Given the description of an element on the screen output the (x, y) to click on. 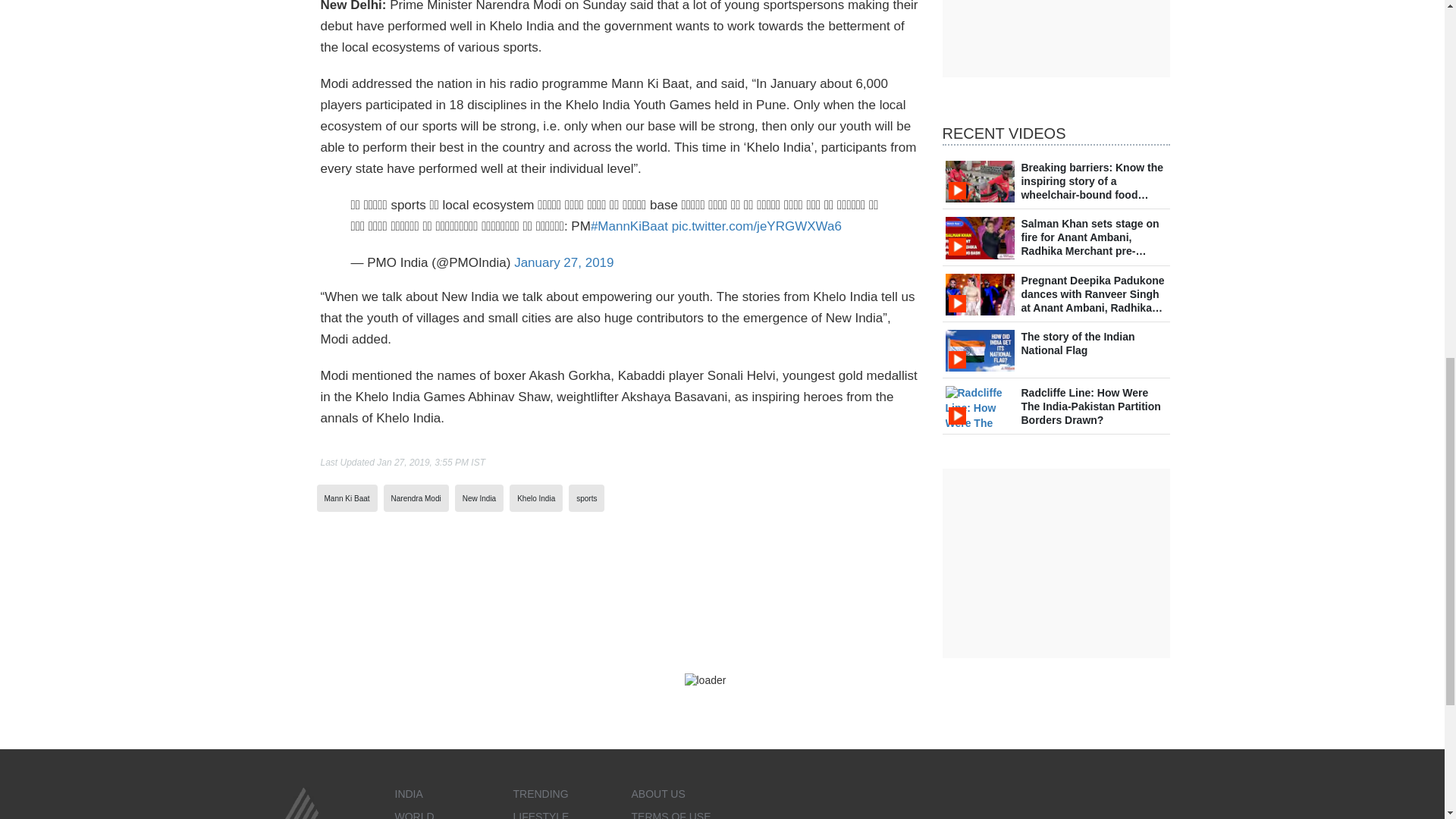
Mann Ki Baat (346, 498)
New India (479, 498)
January 27, 2019 (562, 262)
Narendra Modi (416, 498)
Khelo India (535, 498)
sports (586, 498)
